Given the description of an element on the screen output the (x, y) to click on. 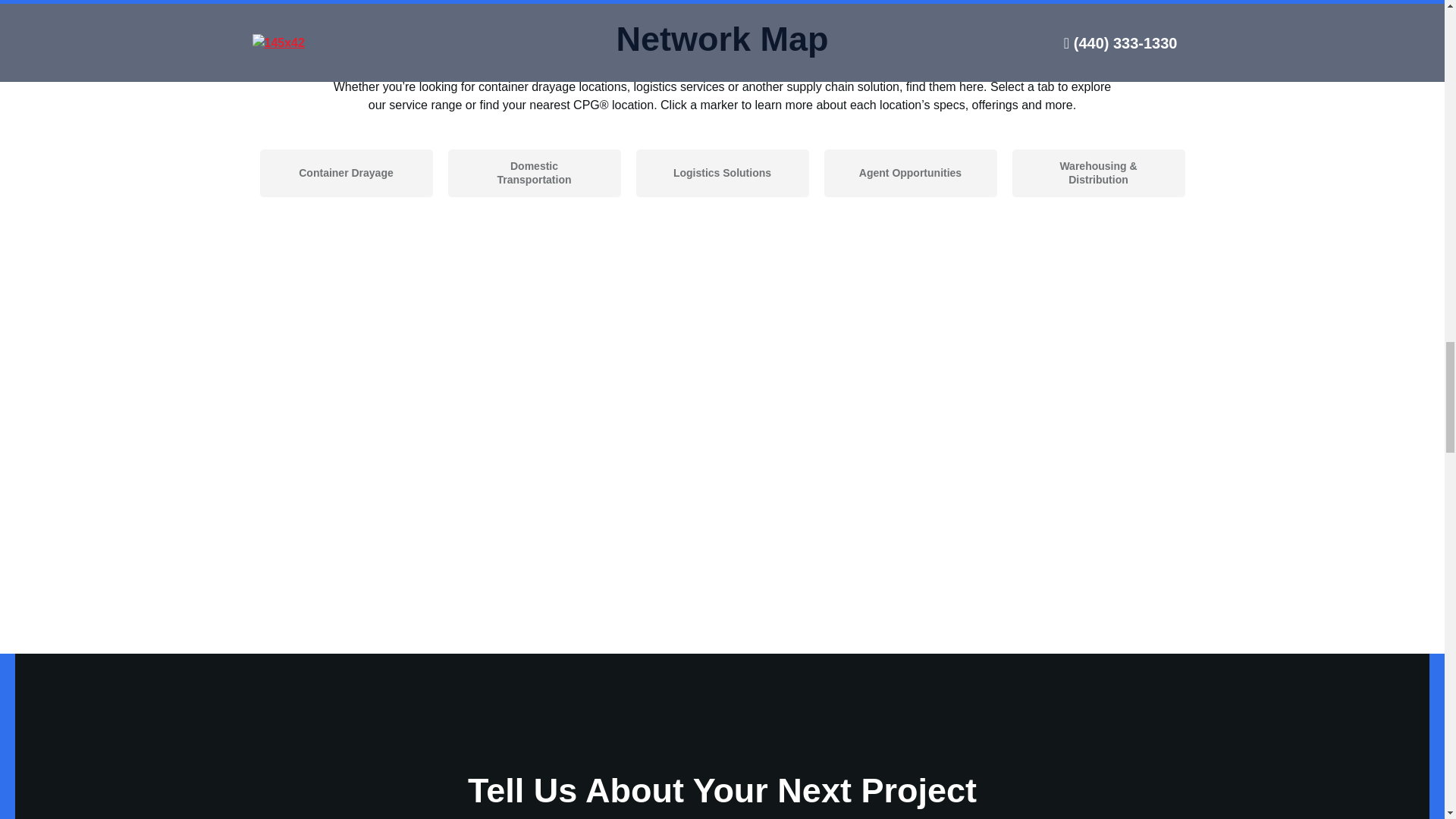
Container Drayage (345, 173)
Domestic Transportation (533, 173)
Agent Opportunities (909, 173)
Logistics Solutions (721, 173)
